Given the description of an element on the screen output the (x, y) to click on. 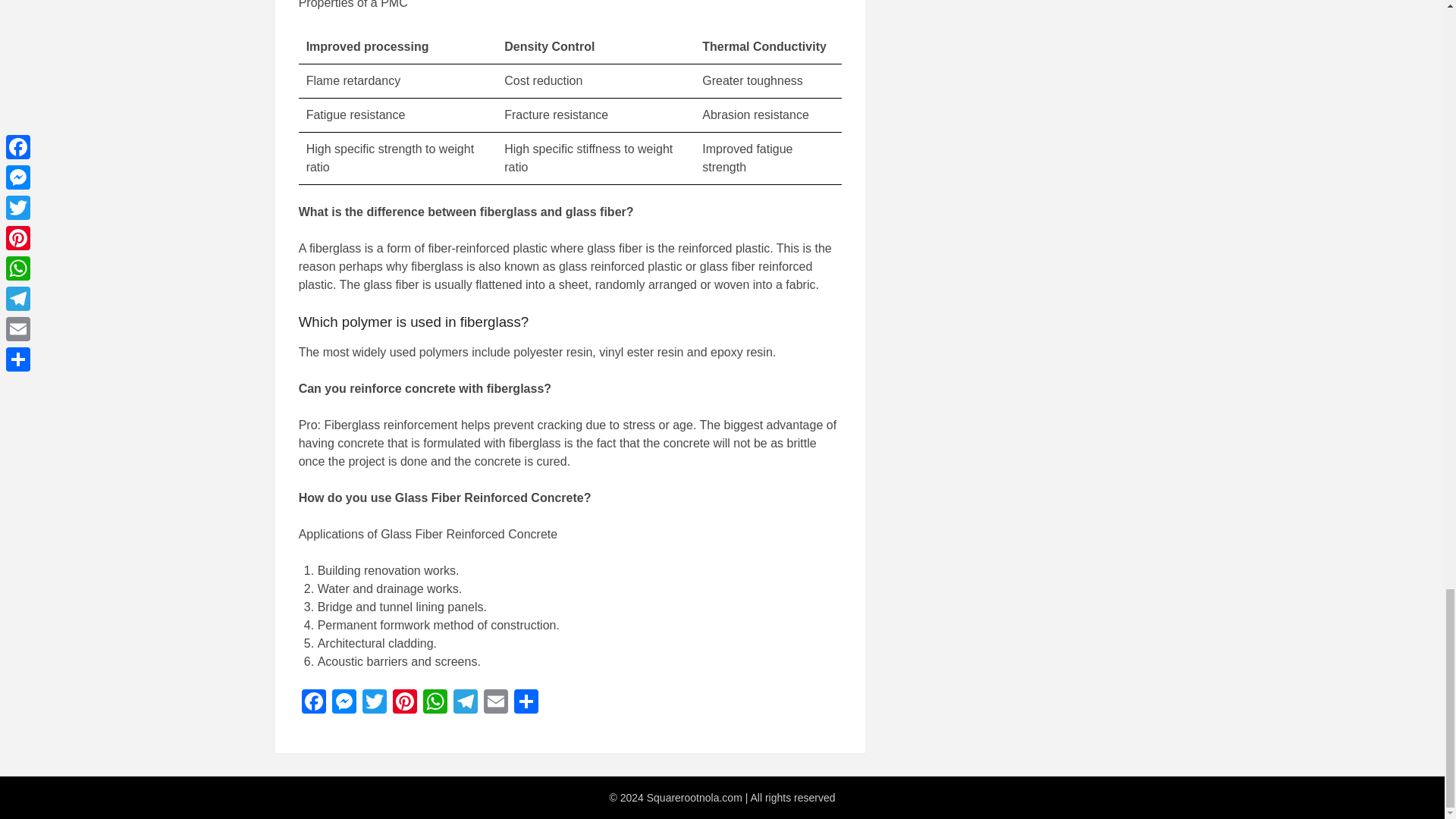
Messenger (344, 703)
Telegram (464, 703)
Twitter (374, 703)
Messenger (344, 703)
Share (526, 703)
Pinterest (405, 703)
Facebook (313, 703)
Twitter (374, 703)
Facebook (313, 703)
WhatsApp (434, 703)
Email (495, 703)
Telegram (464, 703)
Email (495, 703)
Pinterest (405, 703)
WhatsApp (434, 703)
